Given the description of an element on the screen output the (x, y) to click on. 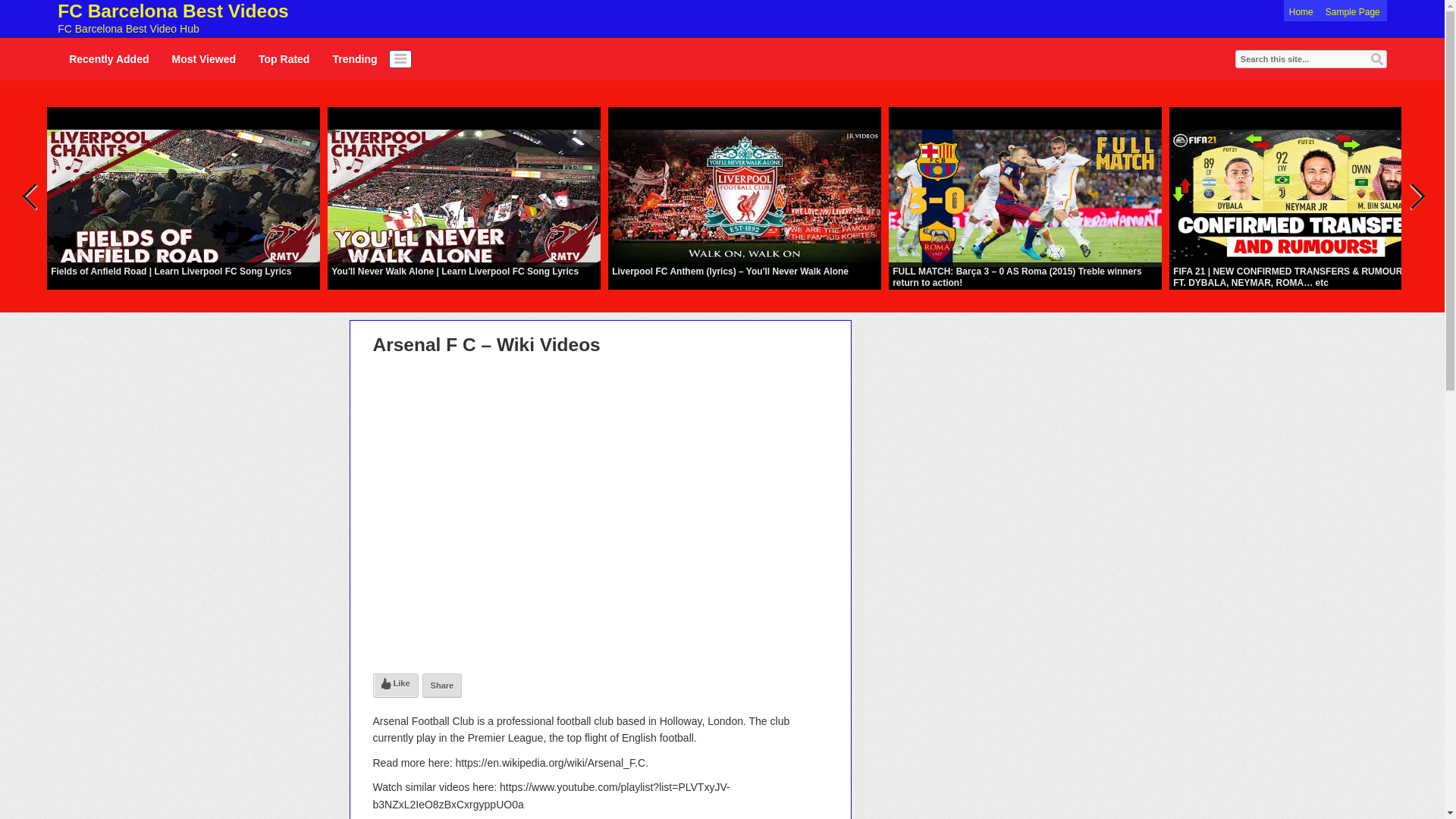
Recently Added (108, 58)
Most Viewed (209, 18)
Search this site... (203, 58)
Recently Added (1310, 58)
Sample Page (108, 58)
Trending (1352, 12)
Top Rated (354, 58)
Home (283, 58)
Trending (1300, 12)
Search (354, 58)
Top Rated (1377, 59)
FC Barcelona Best Videos (283, 58)
Most Viewed (209, 18)
